Given the description of an element on the screen output the (x, y) to click on. 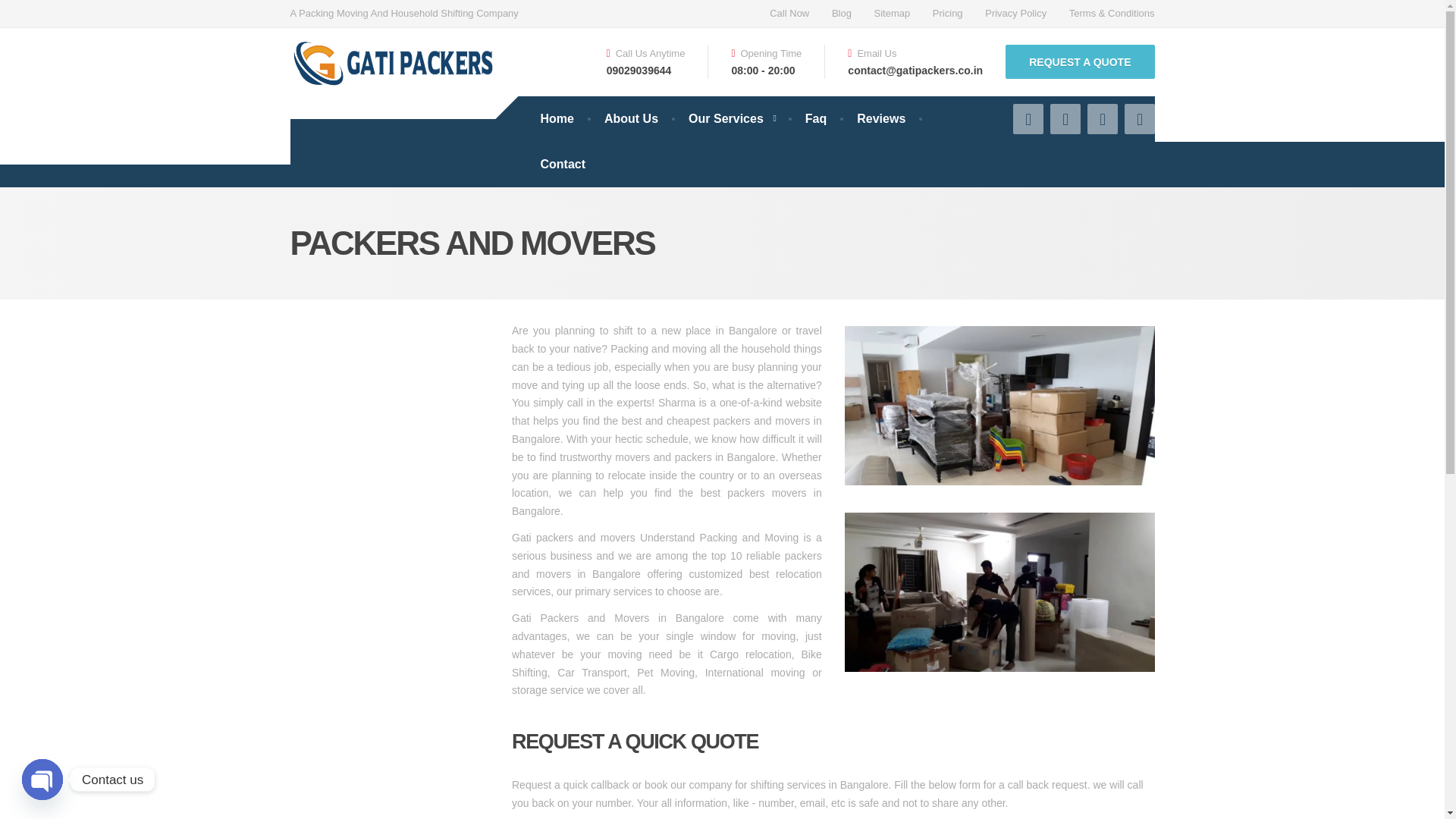
Pricing (947, 13)
Home (556, 118)
Contact (561, 164)
Blog (841, 13)
Privacy Policy (1016, 13)
REQUEST A QUOTE (1080, 61)
Our Services (731, 118)
About Us (630, 118)
Sitemap (892, 13)
Faq (815, 118)
Packers And Movers 2 (999, 591)
Call Now (789, 13)
Reviews (880, 118)
Packers And Movers 1 (999, 405)
